Given the description of an element on the screen output the (x, y) to click on. 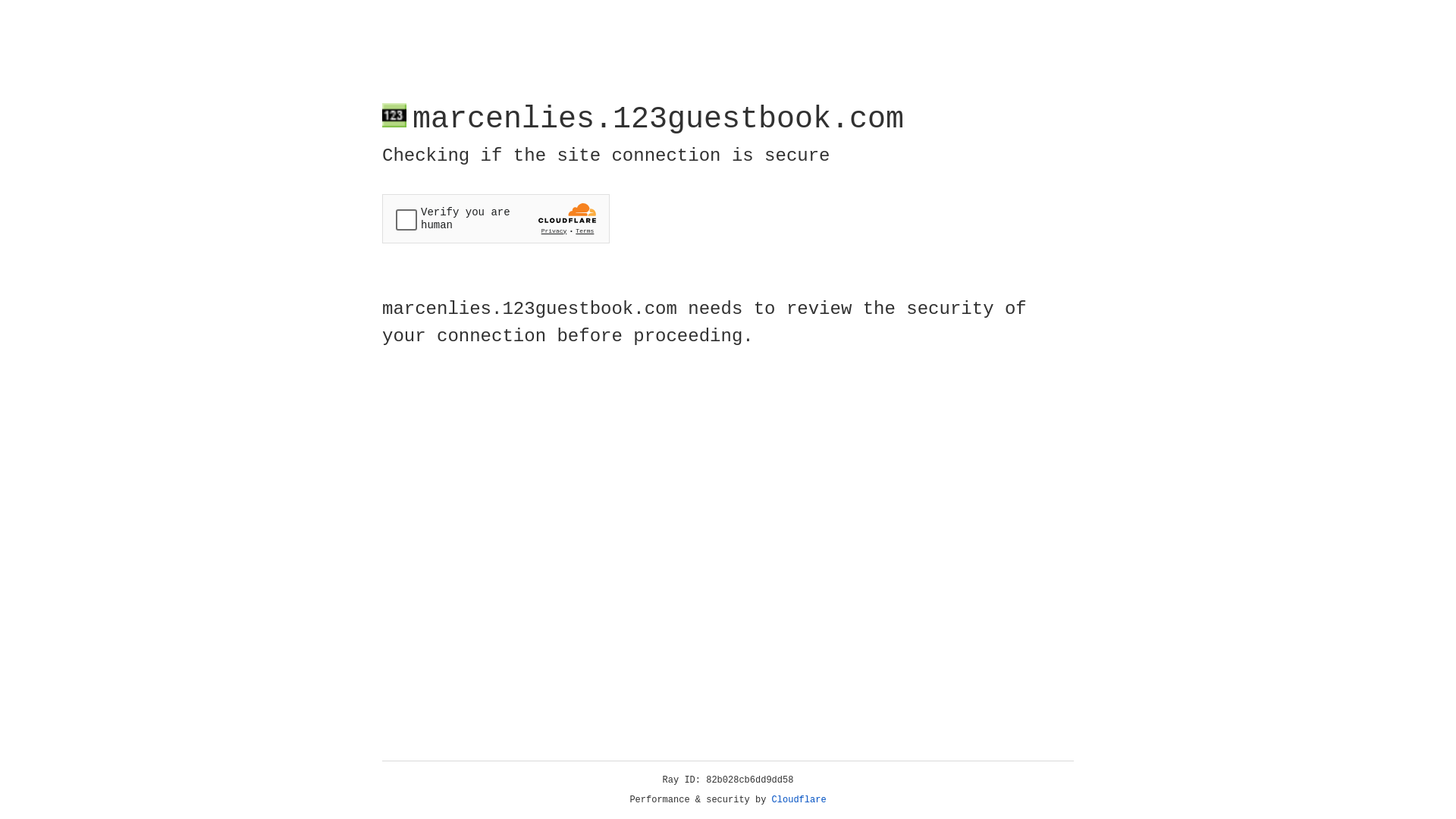
Cloudflare Element type: text (798, 799)
Widget containing a Cloudflare security challenge Element type: hover (495, 218)
